Given the description of an element on the screen output the (x, y) to click on. 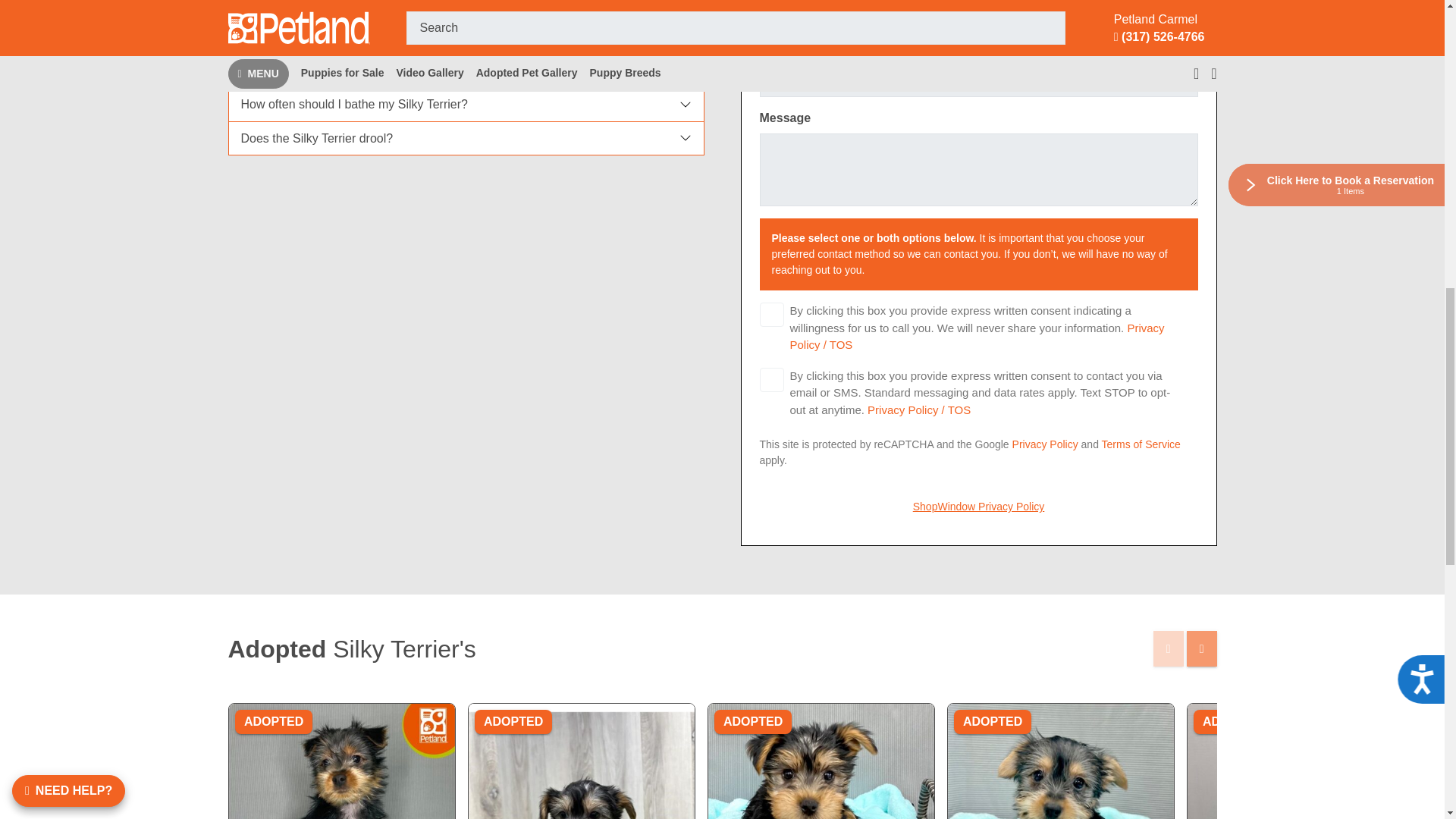
Y (772, 379)
Y (772, 314)
